Given the description of an element on the screen output the (x, y) to click on. 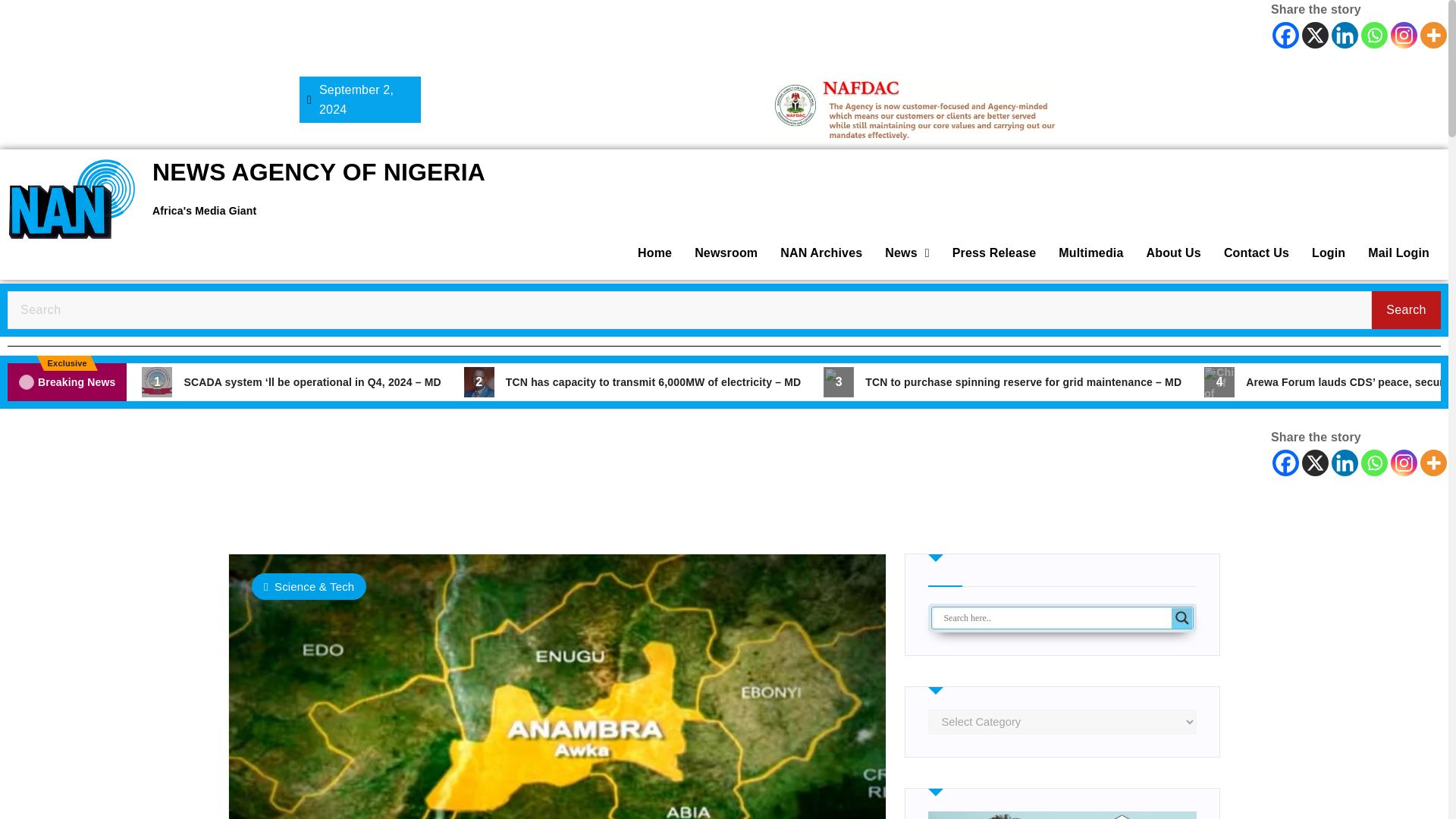
Multimedia (1090, 252)
Mail Login (1398, 252)
Instagram (1403, 35)
About Us (1172, 252)
Facebook (1285, 462)
Instagram (1403, 462)
More (1434, 462)
NAN Archives (820, 252)
Home (654, 252)
Linkedin (1345, 35)
